Given the description of an element on the screen output the (x, y) to click on. 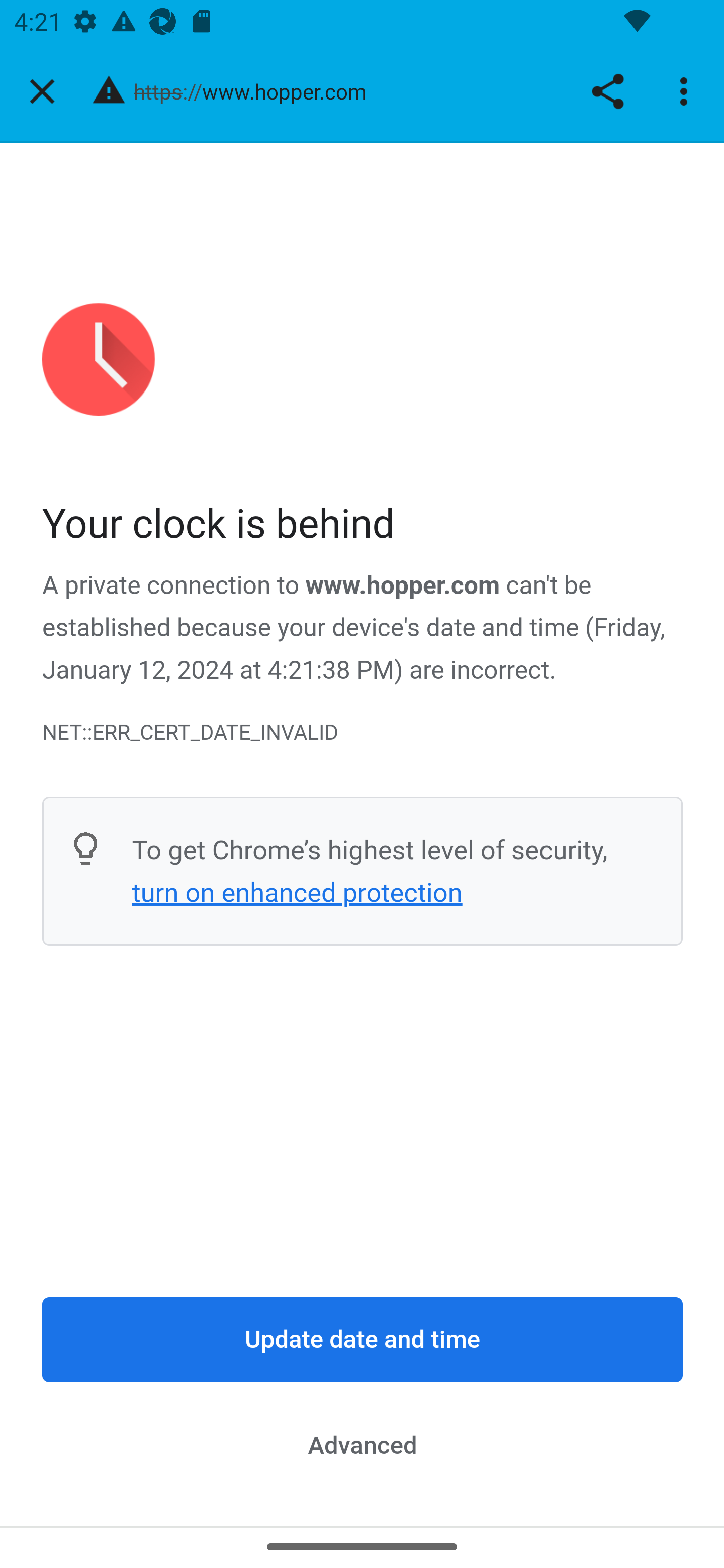
Close tab (42, 91)
Share (607, 91)
More options (687, 91)
This page is dangerous (108, 91)
https://www.hopper.com (256, 90)
NET::ERR_CERT_DATE_INVALID (362, 732)
turn on enhanced protection (296, 892)
Update date and time (362, 1339)
Advanced (362, 1445)
